Given the description of an element on the screen output the (x, y) to click on. 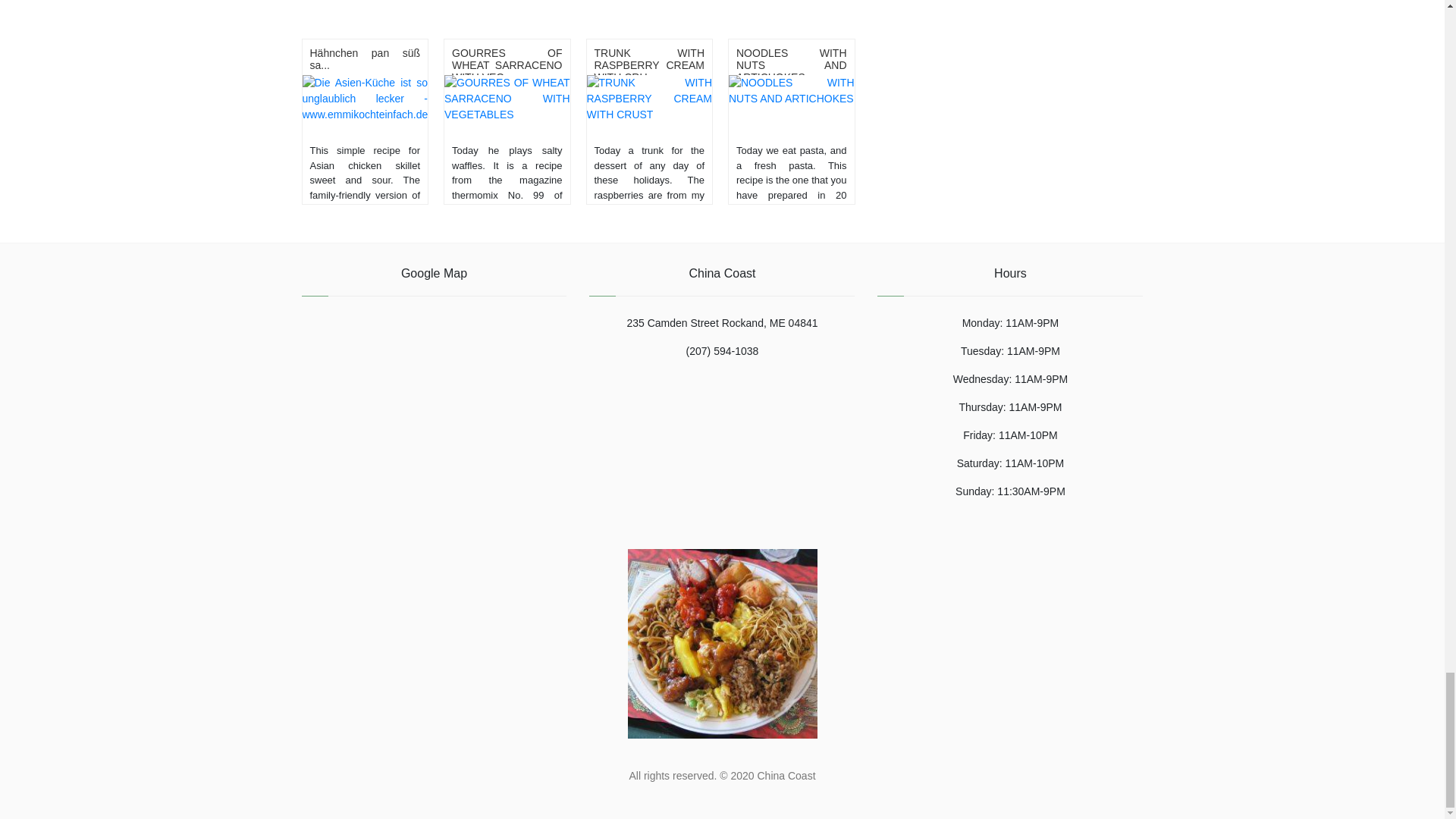
TRUNK WITH RASPBERRY CREAM WITH CRU... (649, 64)
NOODLES WITH NUTS AND ARTICHOKES (791, 64)
GOURRES OF WHEAT SARRACENO WITH VEG... (506, 64)
